Given the description of an element on the screen output the (x, y) to click on. 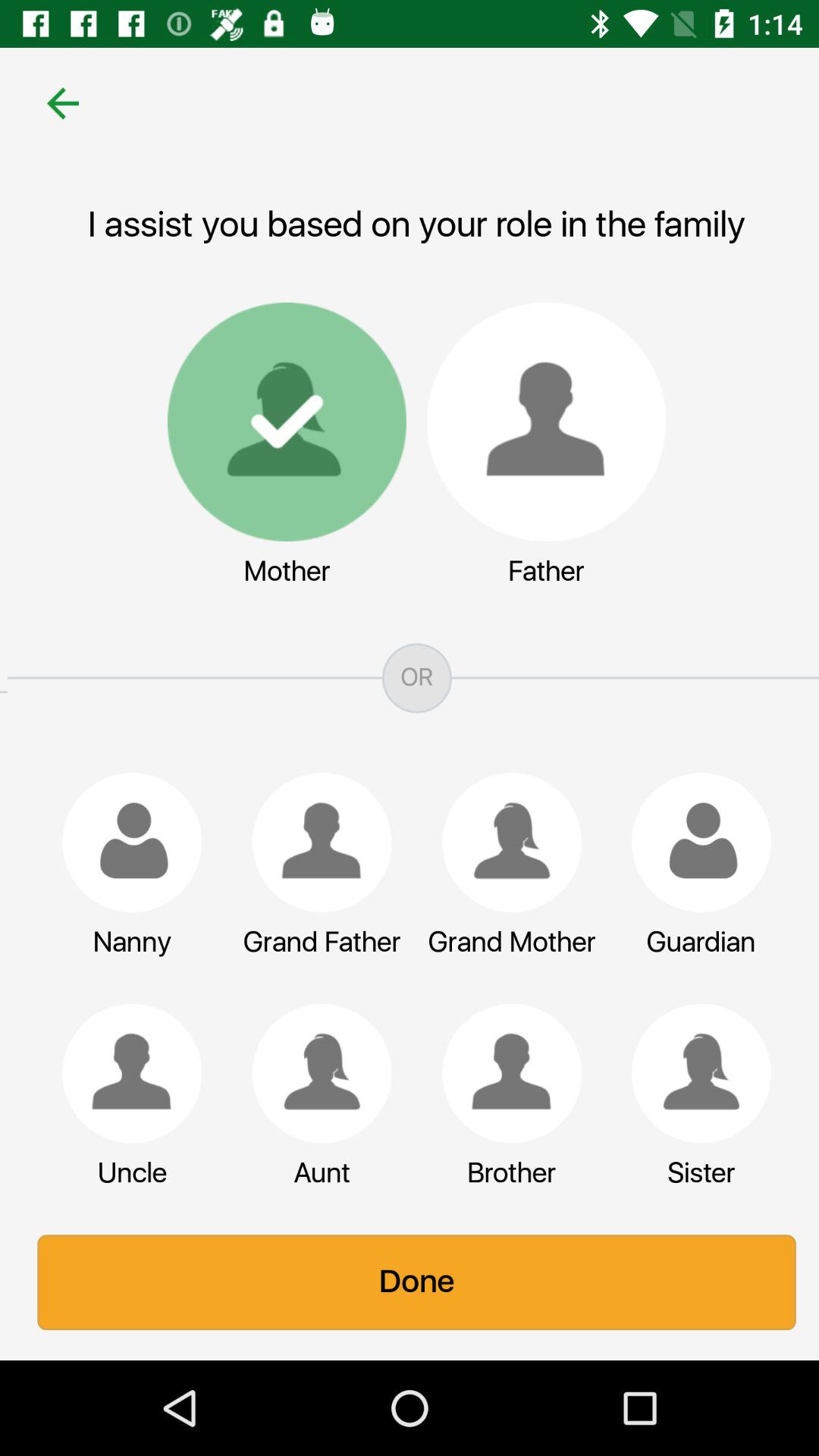
assign me as a brother (504, 1073)
